Given the description of an element on the screen output the (x, y) to click on. 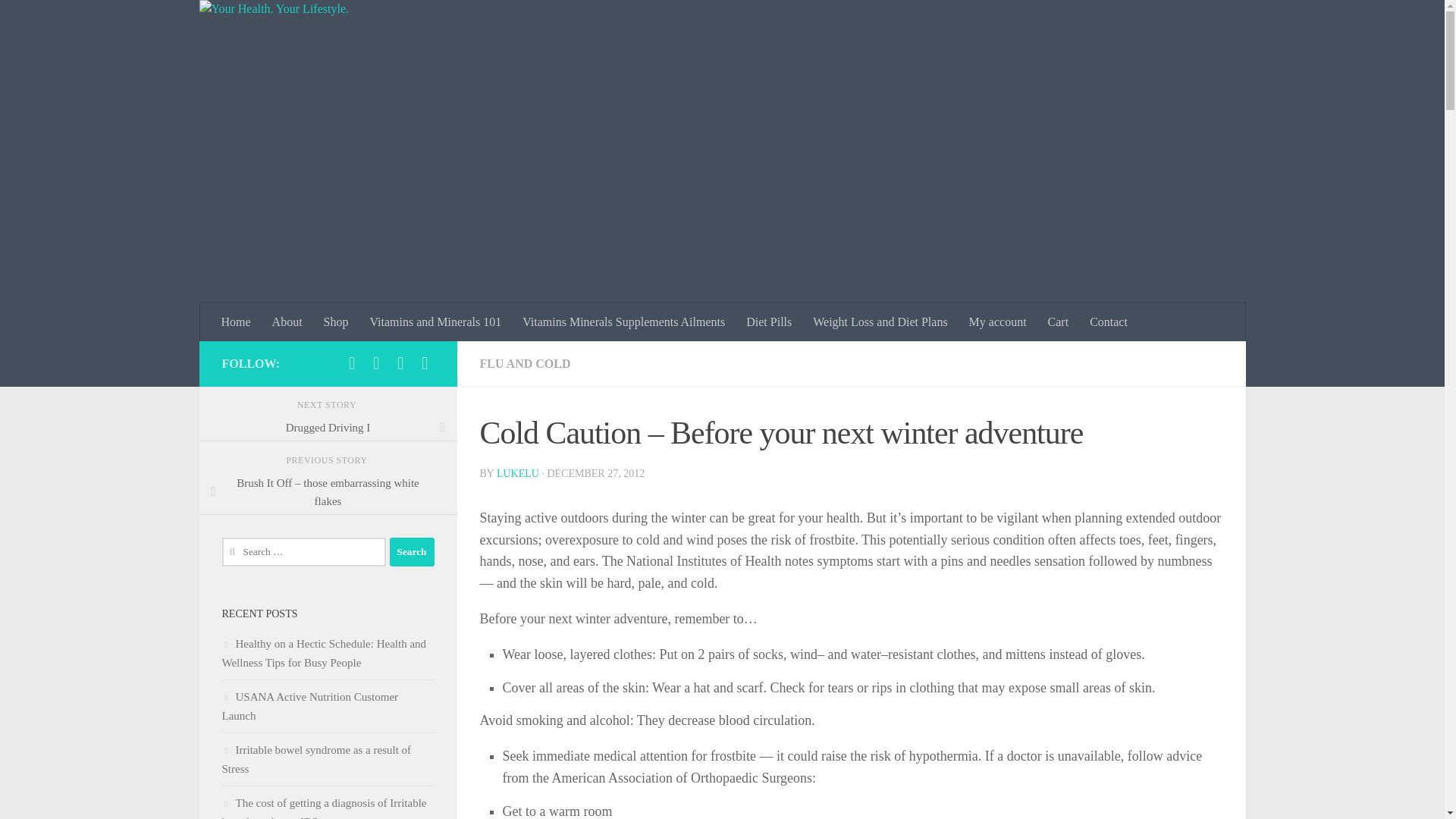
Follow us on Facebook (351, 362)
Vitamins Minerals Supplements Ailments (623, 322)
Follow us on Instagram (400, 362)
Drugged Driving I (327, 427)
Posts by lukelu (517, 473)
Shop (336, 322)
Cart (1058, 322)
Home (236, 322)
Follow us on Pinterest (423, 362)
Contact (1108, 322)
